Given the description of an element on the screen output the (x, y) to click on. 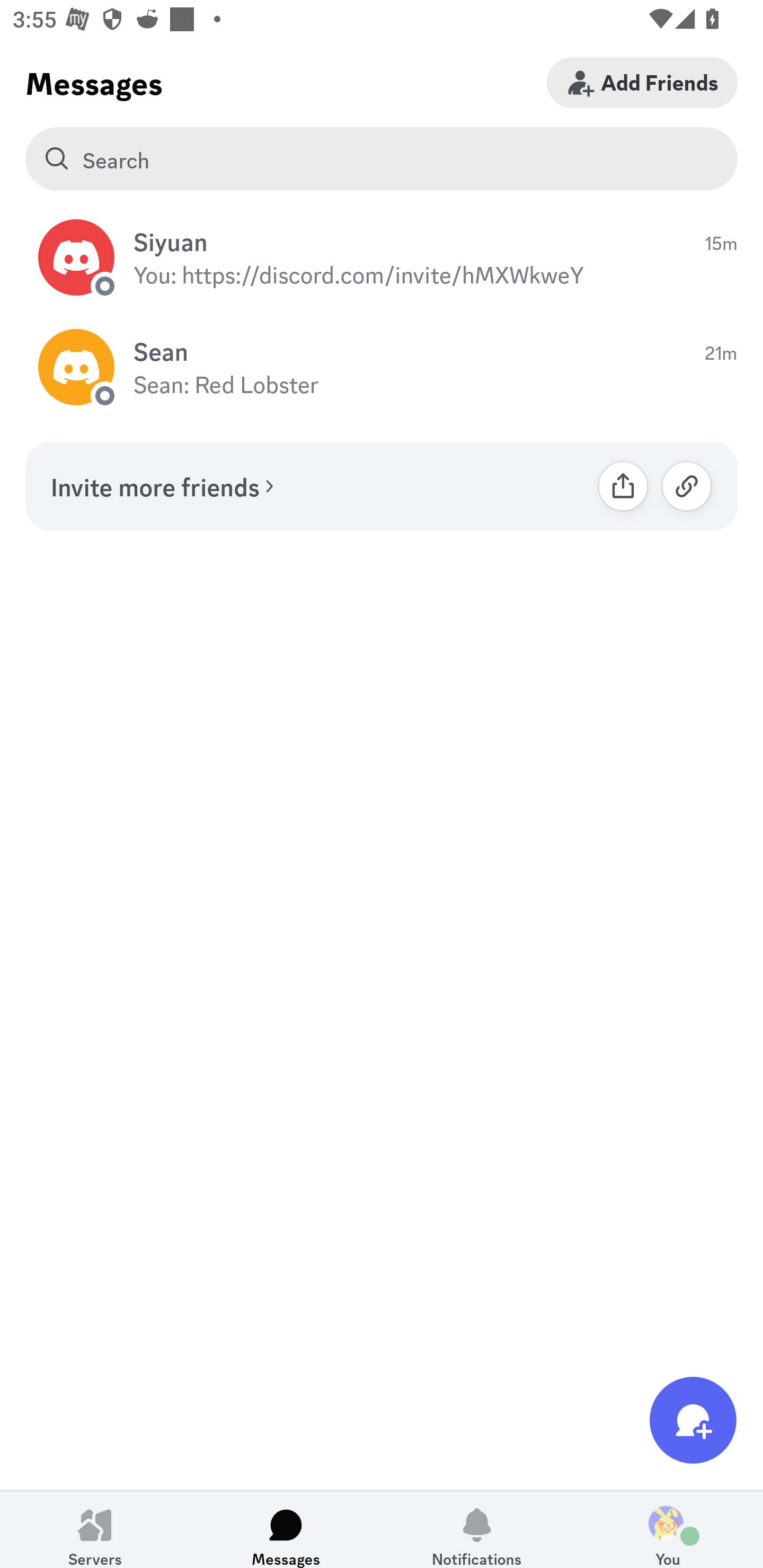
Add Friends (642, 82)
Search (381, 159)
Sean (direct message) Sean 21m Sean: Red Lobster (381, 367)
Share Link (622, 485)
Copy Link (686, 485)
New Message (692, 1419)
Servers (95, 1529)
Messages (285, 1529)
Notifications (476, 1529)
You (667, 1529)
